Given the description of an element on the screen output the (x, y) to click on. 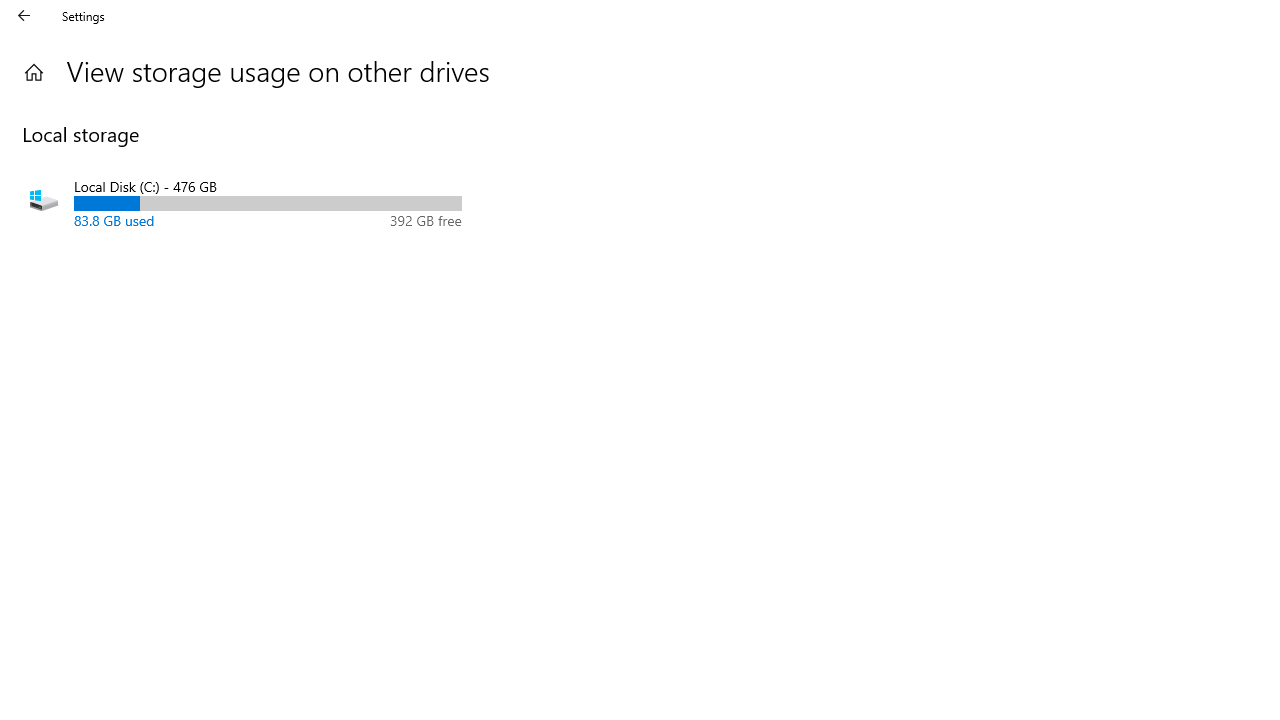
Home (33, 71)
Back (24, 15)
